Given the description of an element on the screen output the (x, y) to click on. 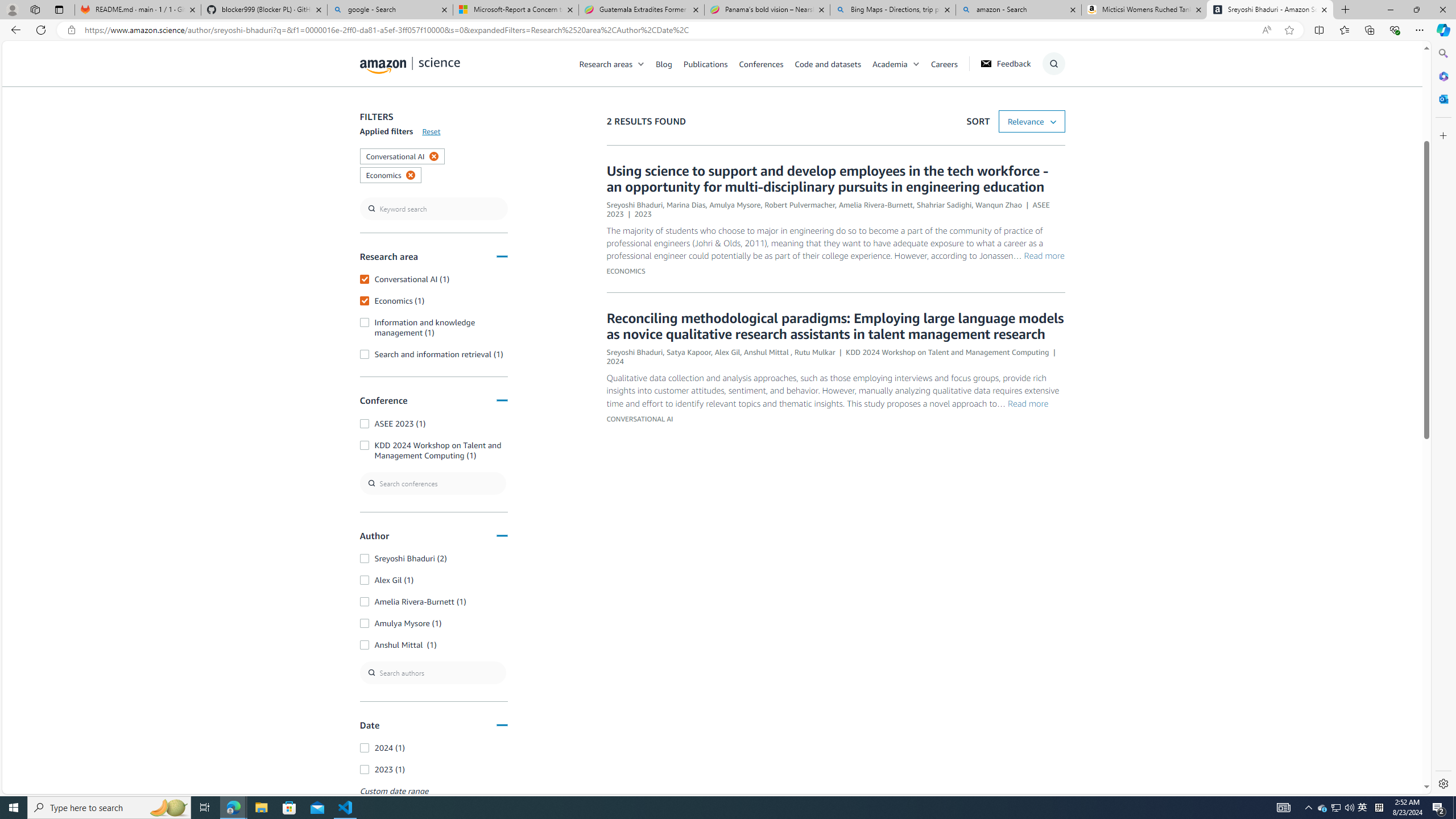
Microsoft-Report a Concern to Bing (515, 9)
Academia (901, 63)
Read more (1027, 402)
amazon-science-logo.svg (409, 65)
Submit Search (1049, 108)
google - Search (389, 9)
Code and datasets (833, 63)
